Given the description of an element on the screen output the (x, y) to click on. 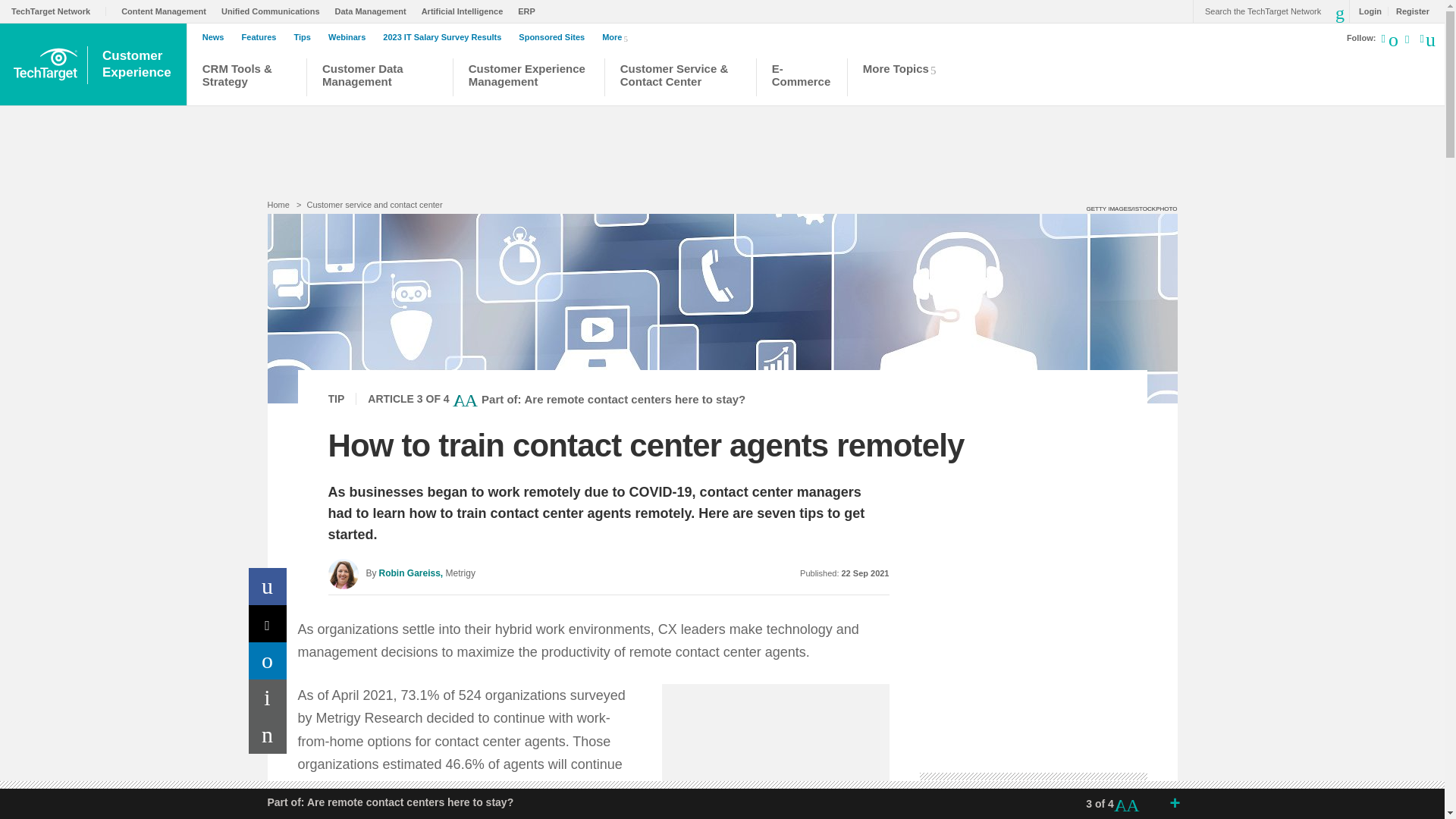
Customer Data Management (379, 79)
Customer Experience Management (528, 79)
Follow Eye on Tech on TikTok (1414, 40)
Webinars (350, 36)
2023 IT Salary Survey Results (445, 36)
Features (262, 36)
Unified Communications (274, 10)
Subscribe to Eye on Tech on Youtube (1406, 40)
Sponsored Sites (555, 36)
Print This Page (267, 697)
Tips (305, 36)
TechTarget Network (58, 10)
Share on X (267, 623)
Like searchCustomerExperience on Facebook (1426, 37)
Share on Facebook (267, 586)
